Given the description of an element on the screen output the (x, y) to click on. 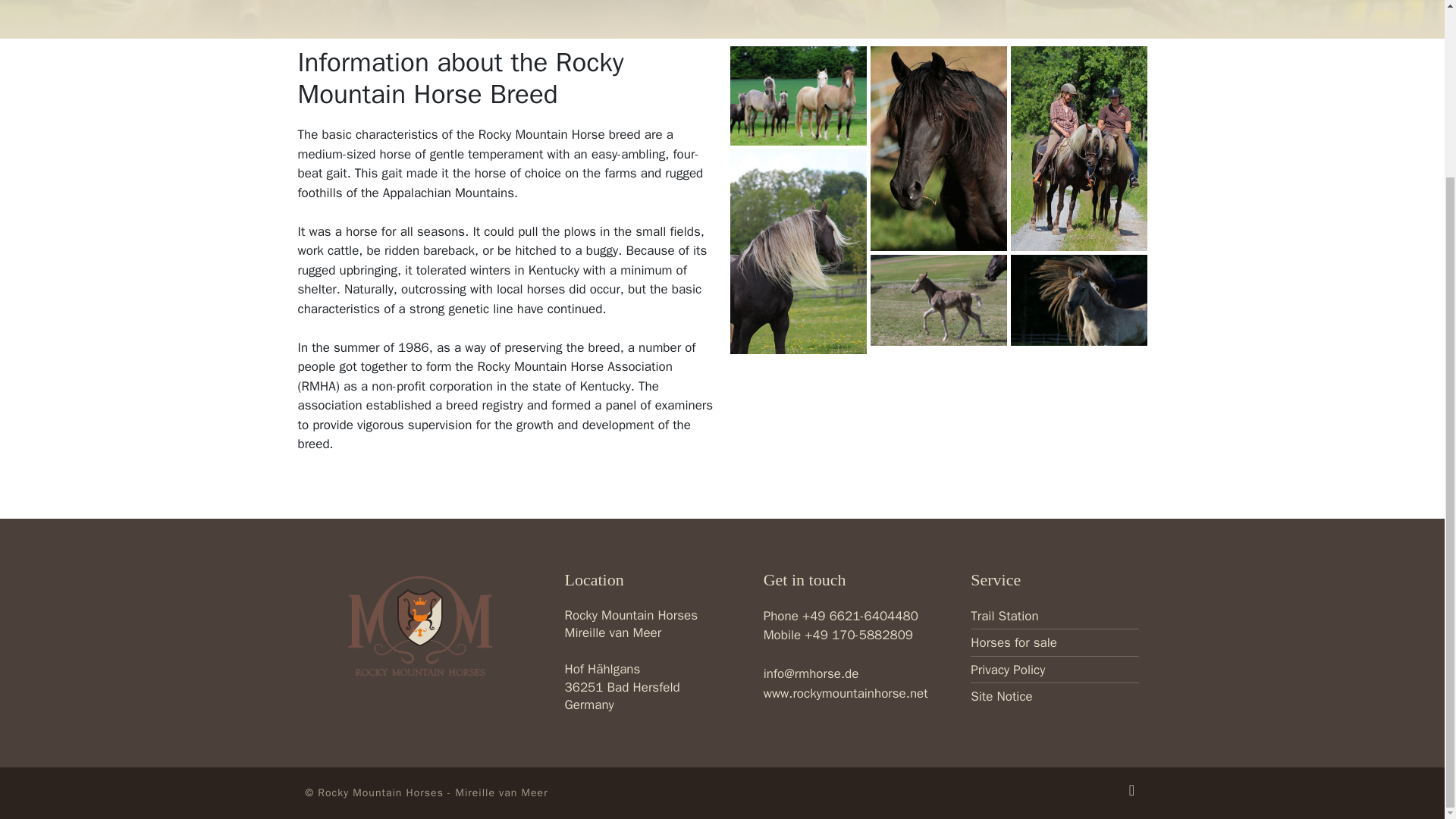
Privacy Policy (1054, 670)
Horses for sale (1054, 642)
Site Notice (1054, 696)
Trail Station (1054, 615)
